Given the description of an element on the screen output the (x, y) to click on. 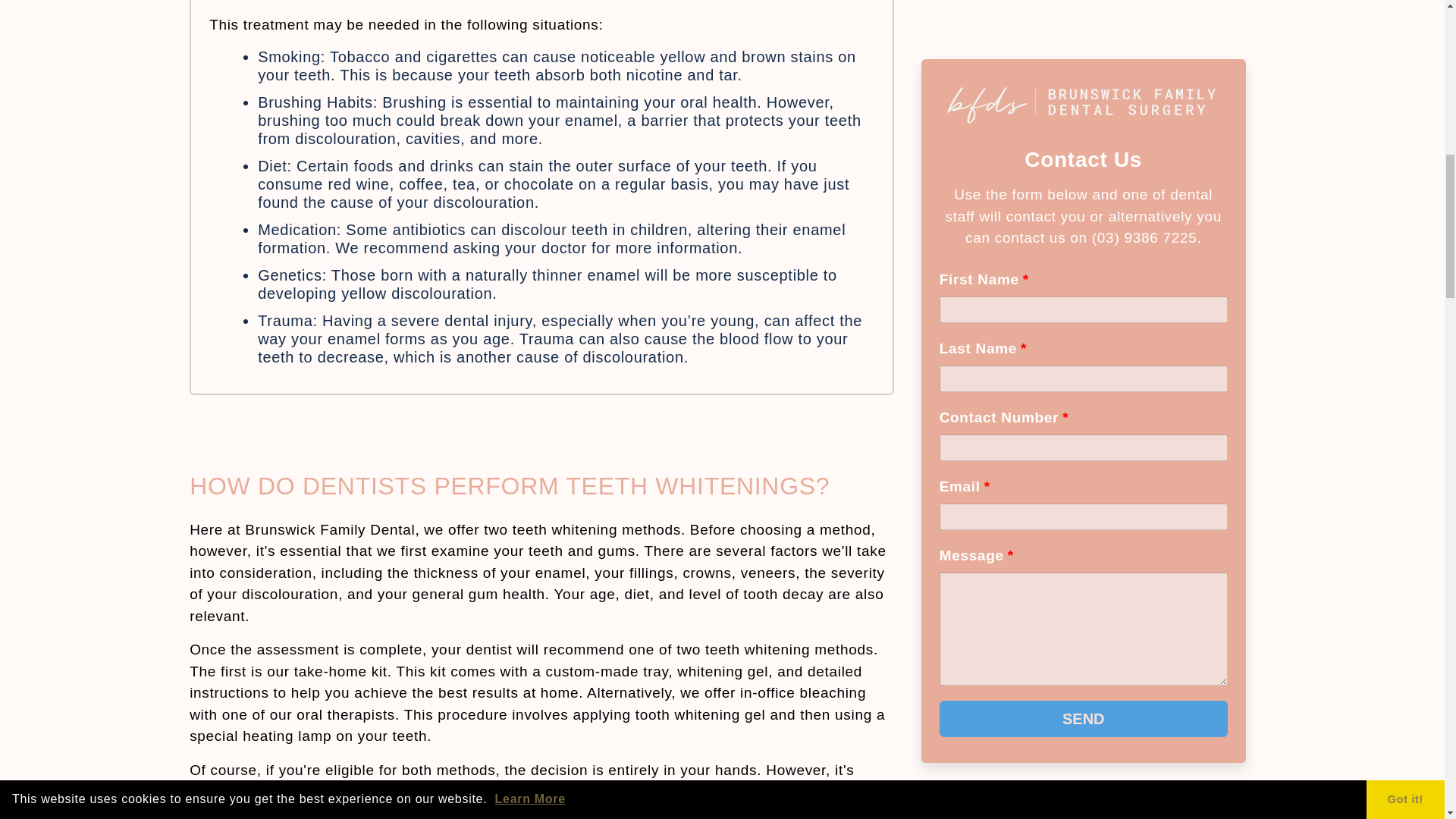
SEND (1083, 266)
